Given the description of an element on the screen output the (x, y) to click on. 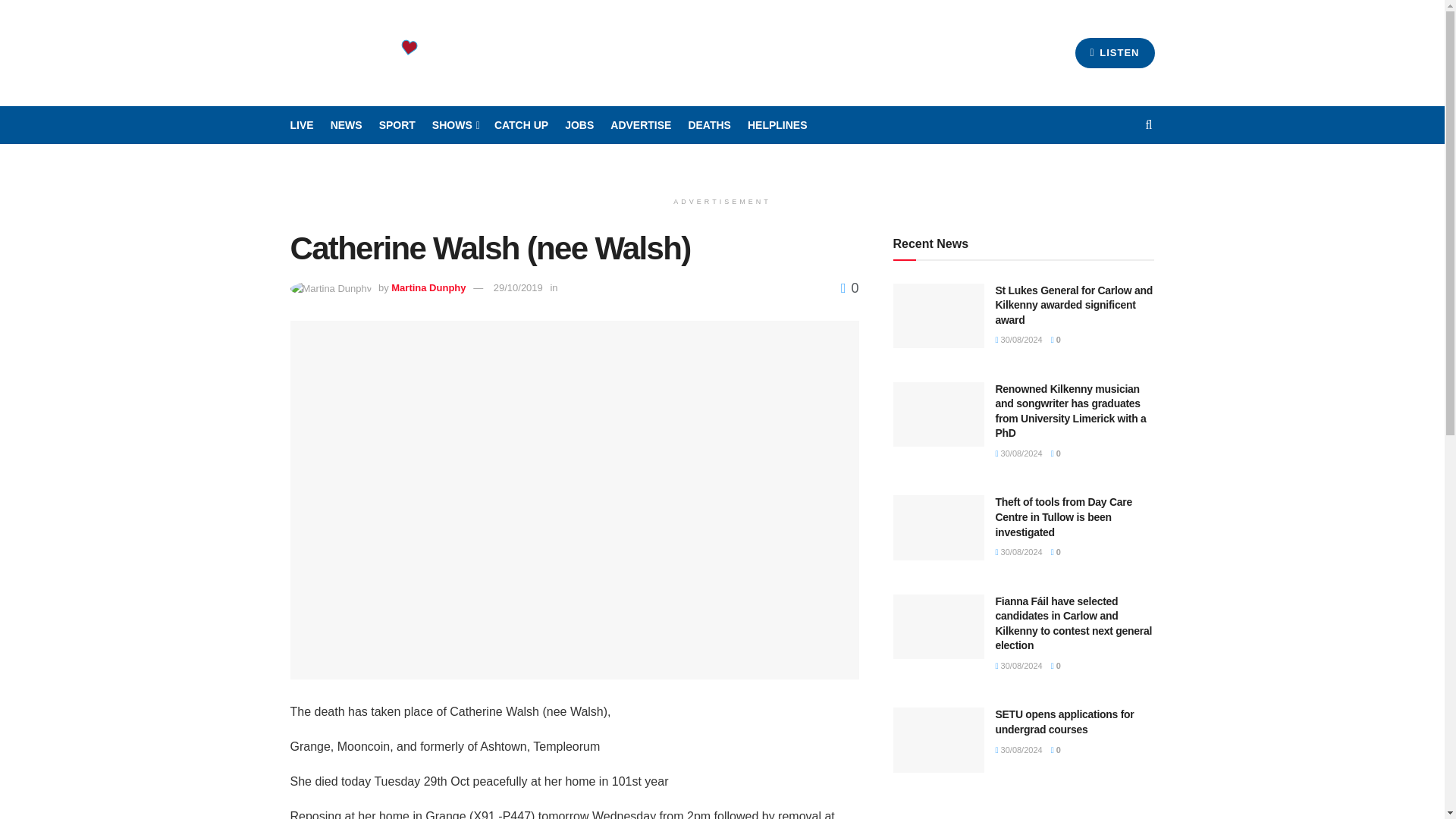
KCLR Sport on Scoreline.ie (396, 125)
Carlow and Kilkenny Death Notices (708, 125)
HELPLINES (778, 125)
Listen back to KCLR shows (521, 125)
SPORT (396, 125)
SHOWS (454, 125)
ADVERTISE (640, 125)
DEATHS (708, 125)
LISTEN (1114, 52)
CATCH UP (521, 125)
